Given the description of an element on the screen output the (x, y) to click on. 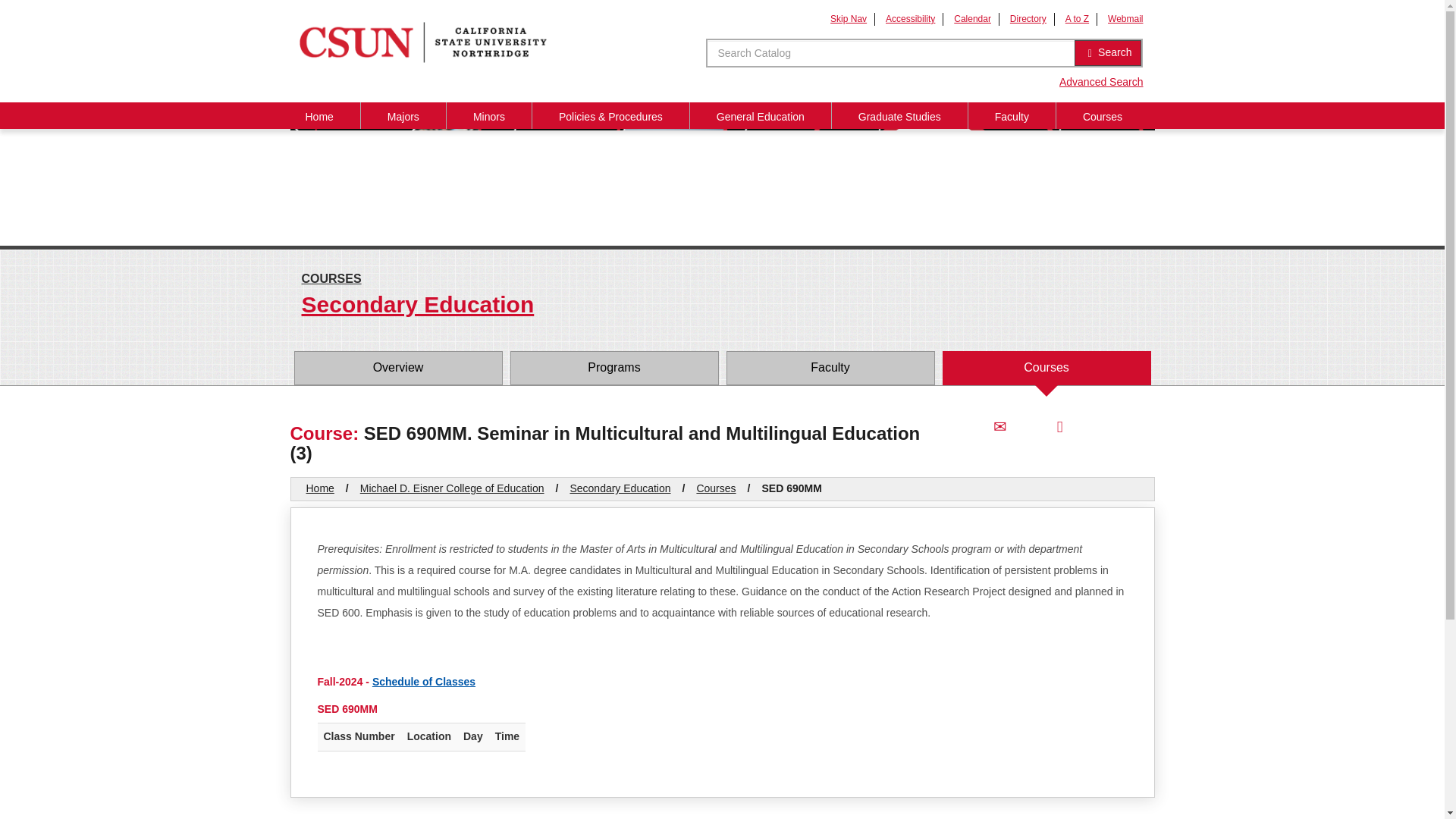
Print this page. (1059, 426)
Minors (488, 115)
Programs (613, 367)
Home (319, 115)
Overview (398, 367)
Webmail (1125, 18)
Skip Nav (847, 18)
Calendar (972, 18)
Secondary Education (721, 306)
Accessibility (909, 18)
